Given the description of an element on the screen output the (x, y) to click on. 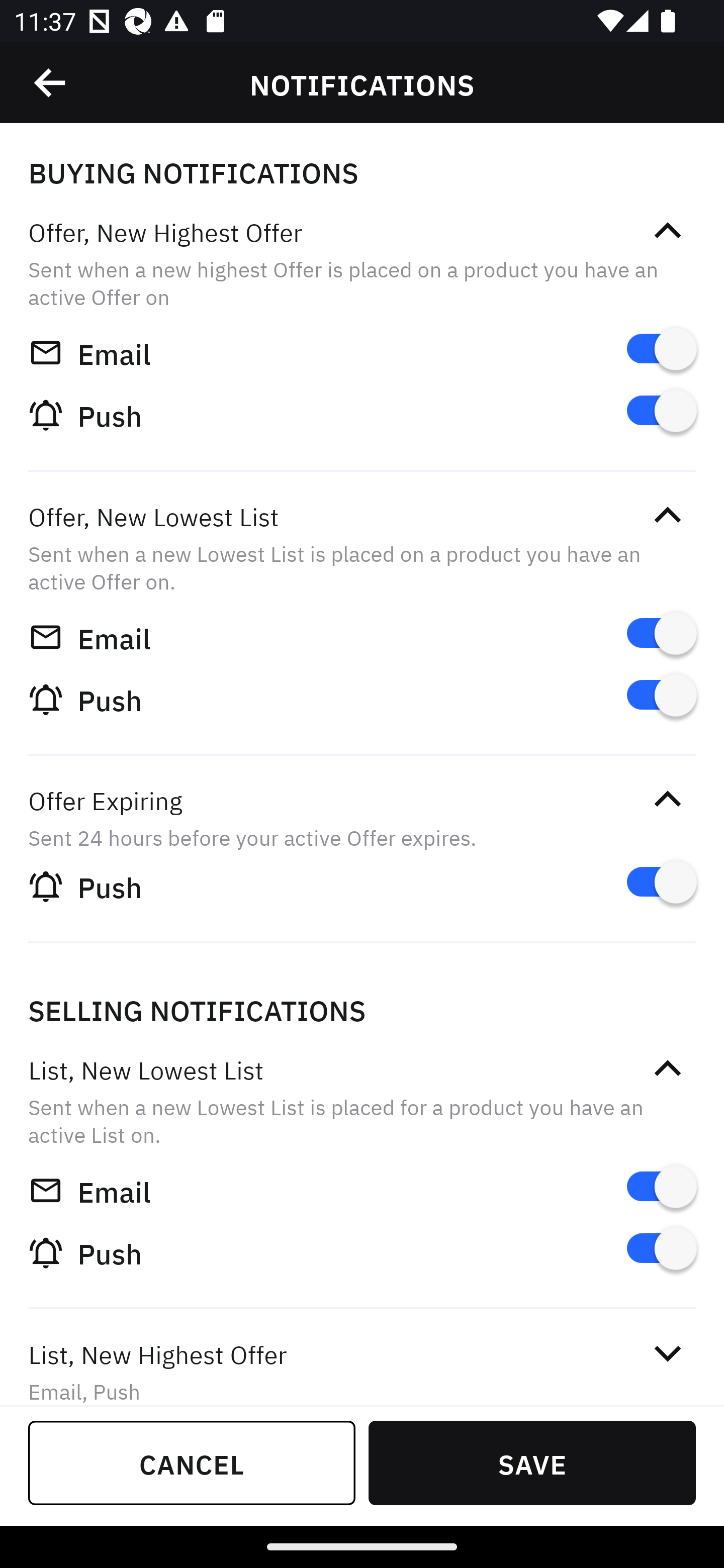
 (50, 83)
 (667, 231)
 (667, 514)
 (667, 799)
 (667, 1068)
List, New Highest Offer  Email, Push (361, 1358)
 (667, 1353)
CANCEL (191, 1462)
SAVE (531, 1462)
